Given the description of an element on the screen output the (x, y) to click on. 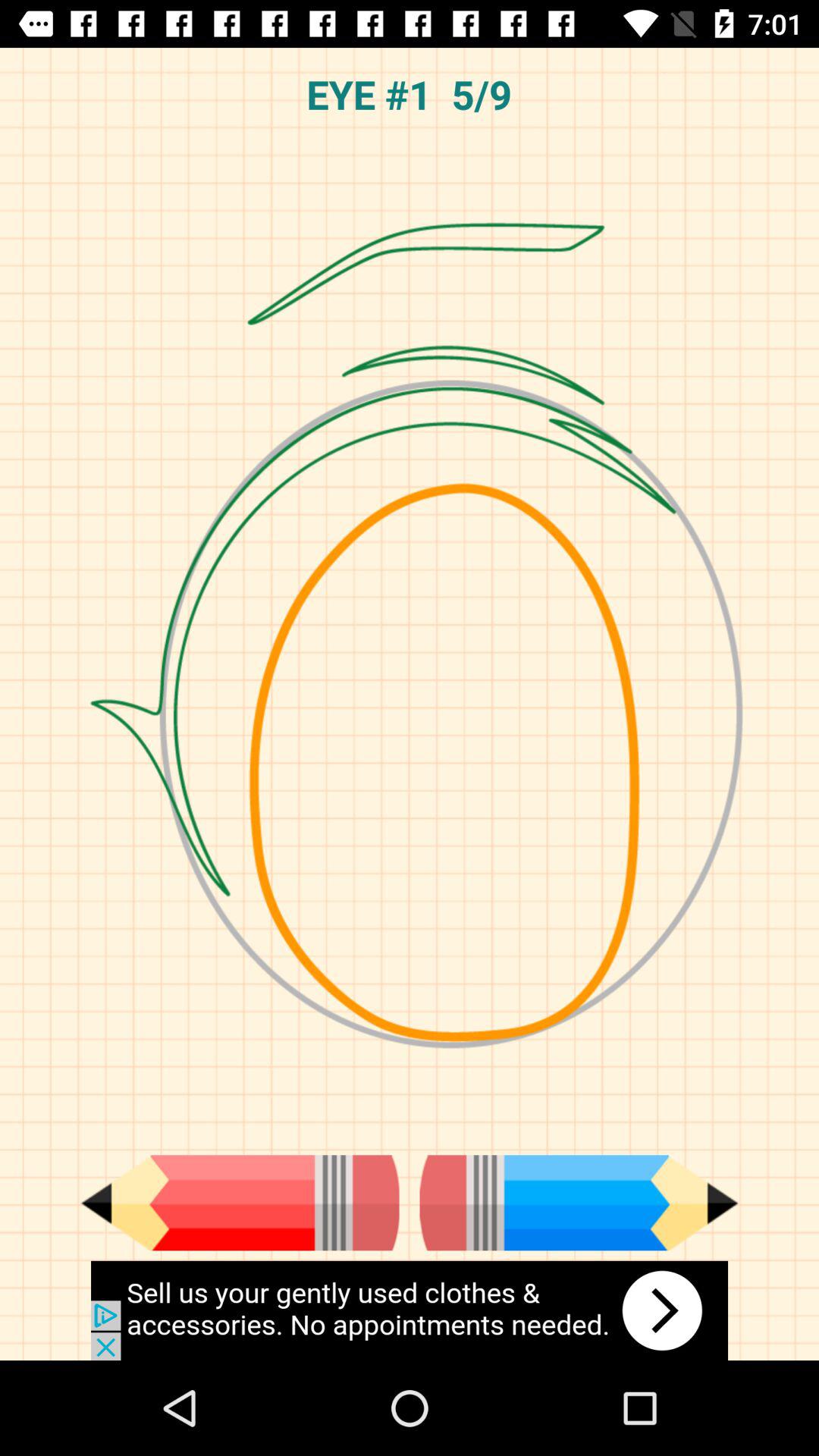
toggle next (578, 1202)
